Given the description of an element on the screen output the (x, y) to click on. 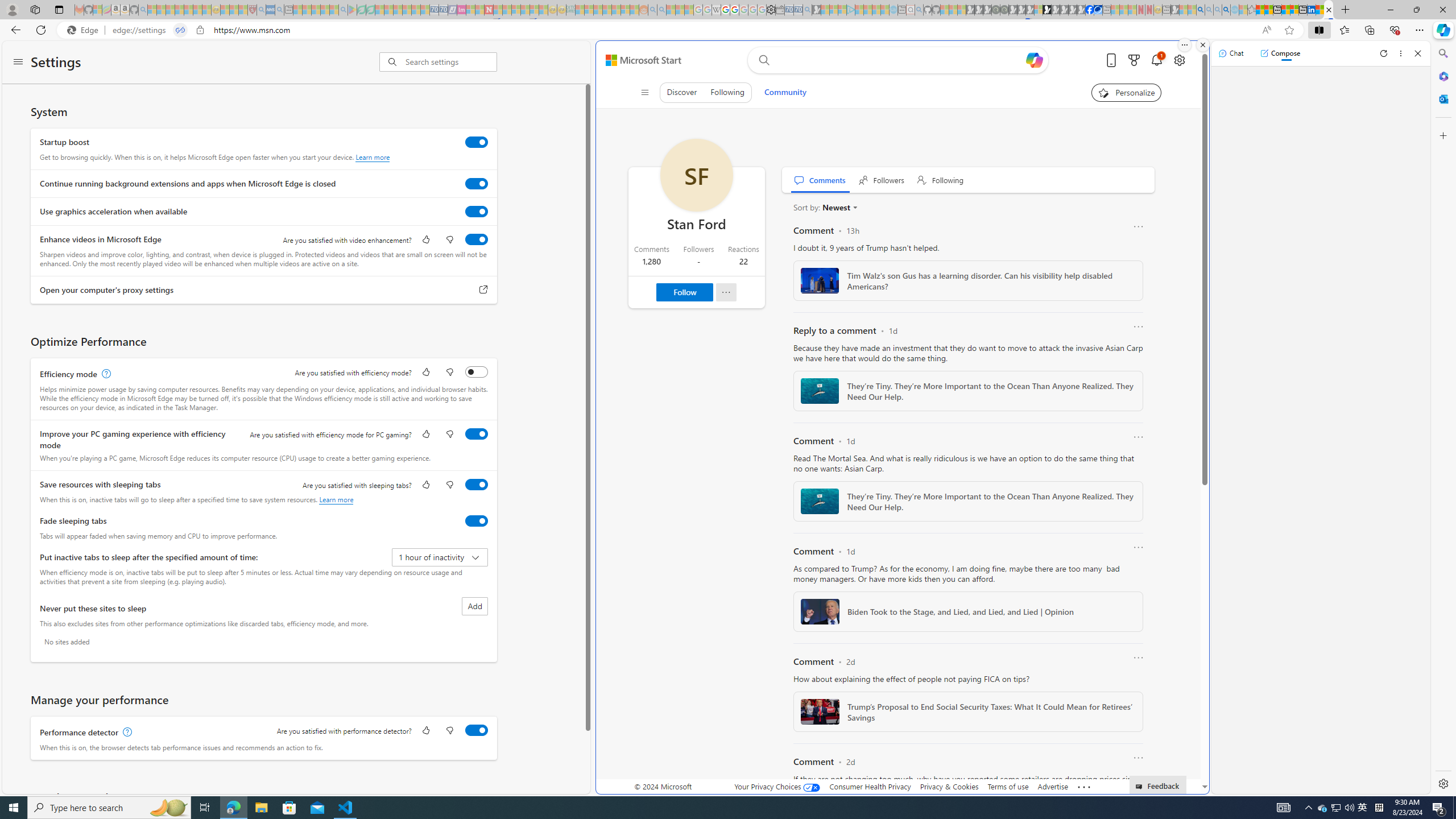
Aberdeen, Hong Kong SAR weather forecast | Microsoft Weather (1268, 9)
Fade sleeping tabs (476, 520)
Improve your PC gaming experience with efficiency mode (476, 433)
